Given the description of an element on the screen output the (x, y) to click on. 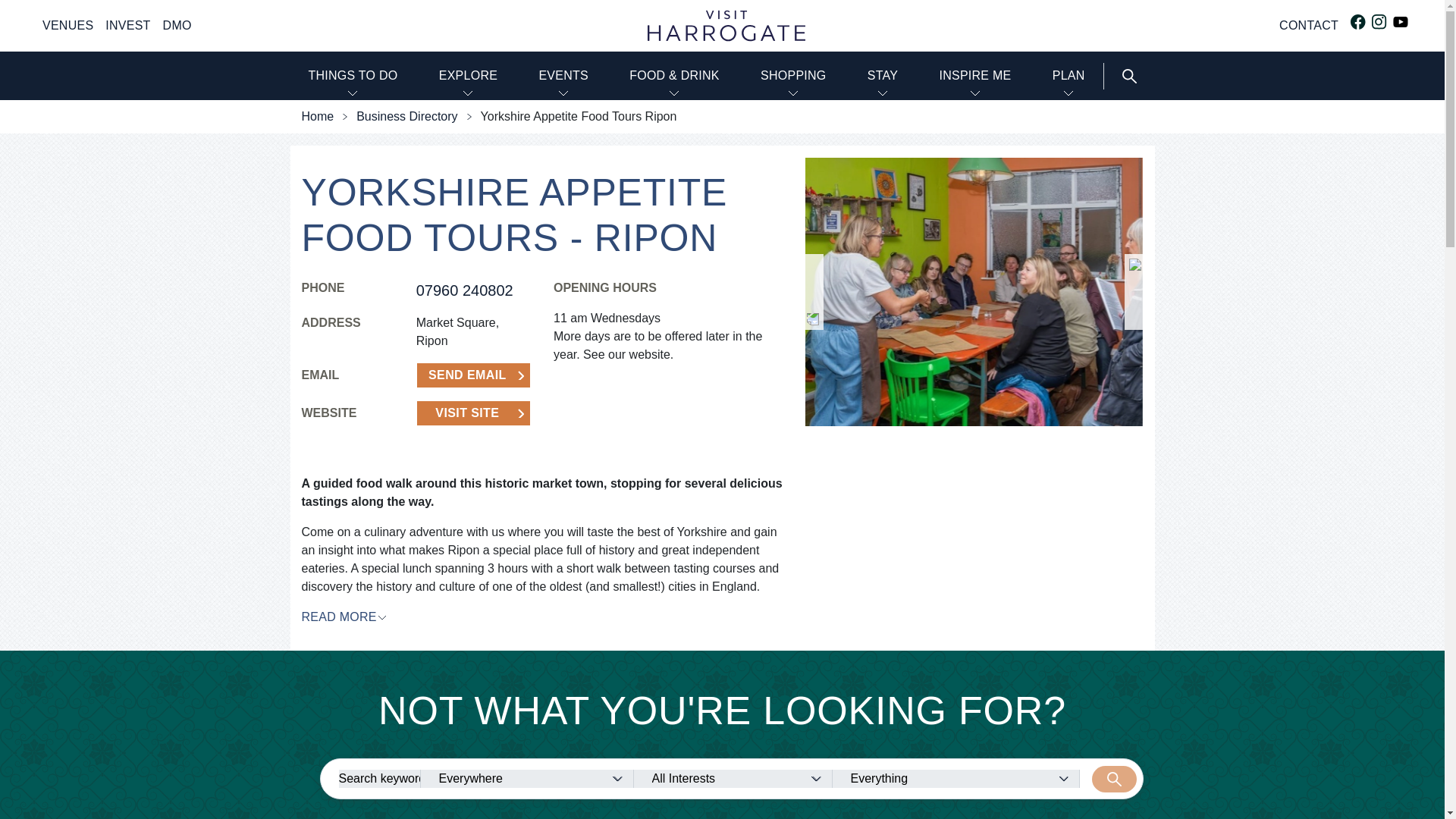
CONTACT (1308, 25)
THINGS TO DO (352, 75)
Contact (1308, 25)
Explore (468, 75)
VENUES (67, 25)
Visit Harrogate Facebook (1358, 21)
DMO (177, 25)
Invest (127, 25)
EXPLORE (468, 75)
Things To Do (352, 75)
